Given the description of an element on the screen output the (x, y) to click on. 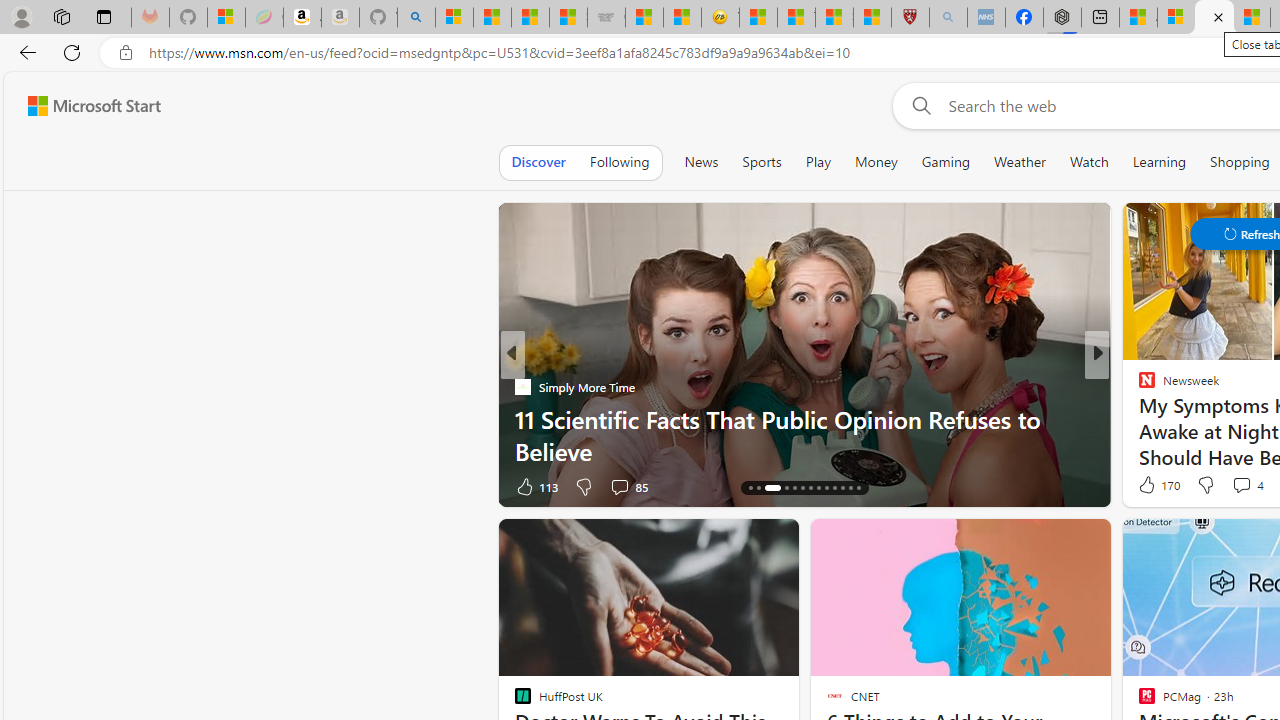
FOX News (1138, 386)
TODAY (1138, 386)
View comments 4 Comment (1247, 484)
Kinda Frugal (1138, 418)
3 Like (1145, 486)
View comments 42 Comment (1234, 485)
113 Like (535, 486)
The Independent (1138, 386)
Gaming (945, 162)
View comments 231 Comment (1240, 486)
